Given the description of an element on the screen output the (x, y) to click on. 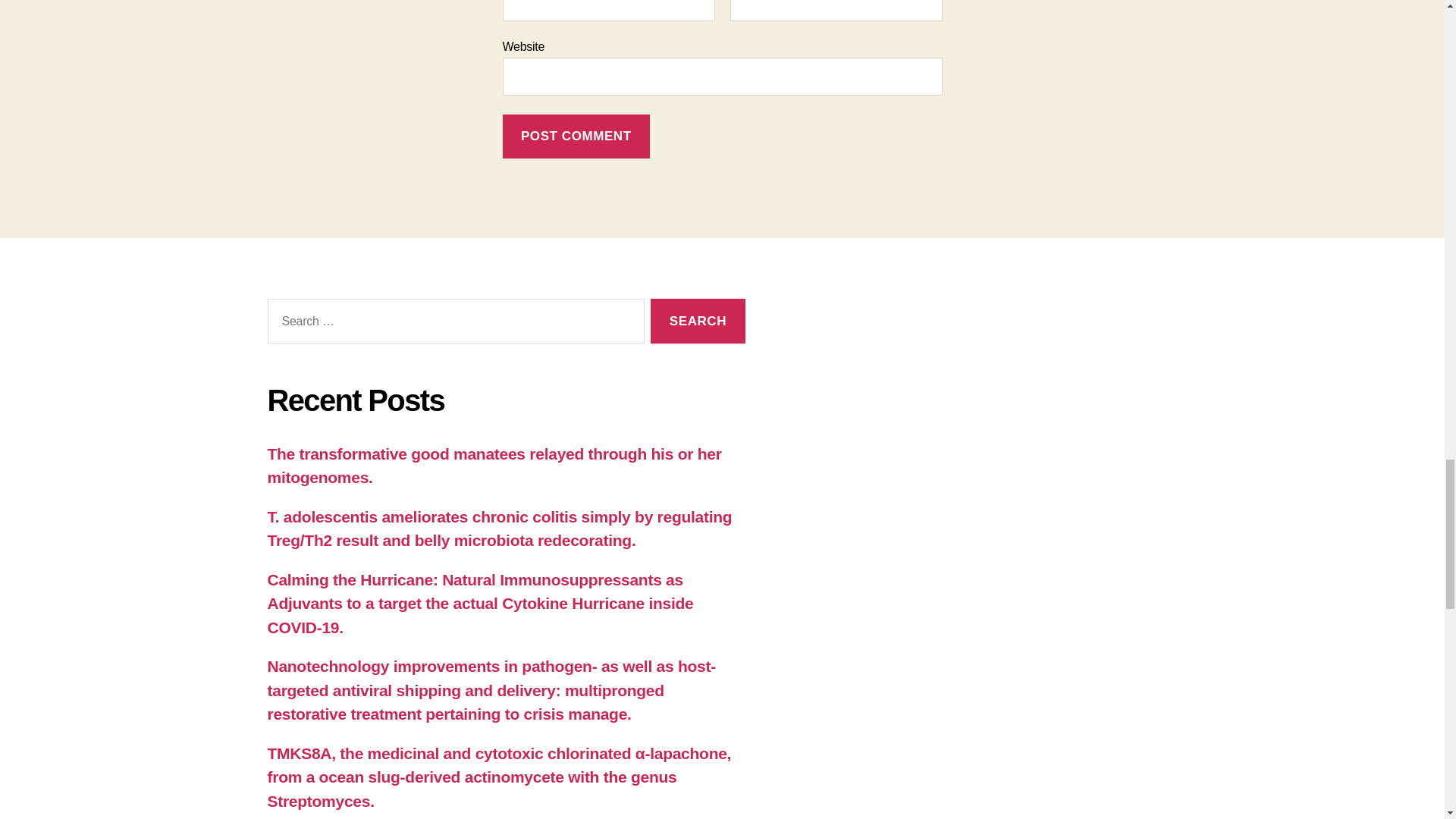
Post Comment (575, 136)
Search (697, 320)
Search (697, 320)
